Given the description of an element on the screen output the (x, y) to click on. 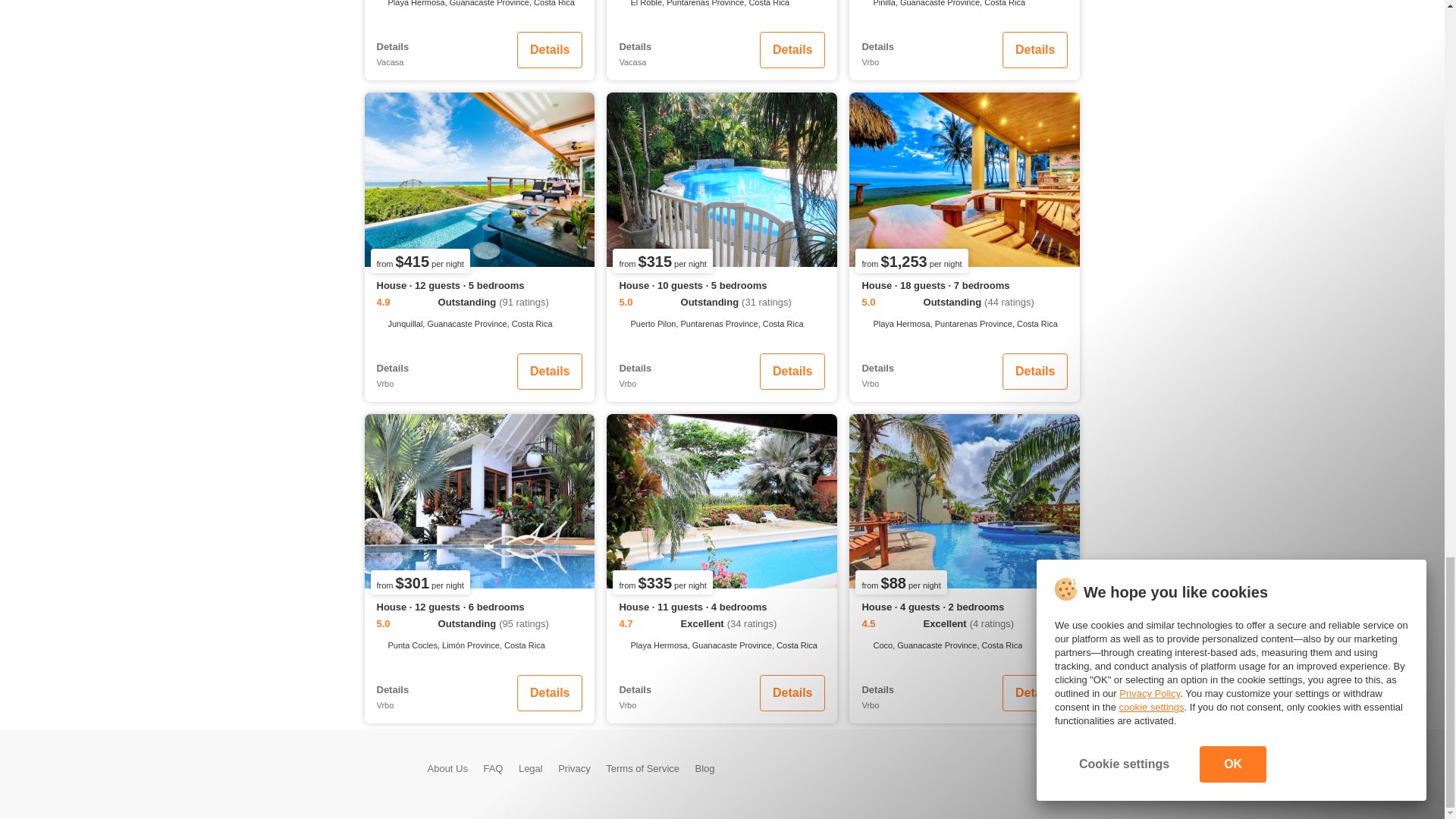
Blog (704, 767)
Privacy (574, 767)
Legal (530, 767)
FAQ (492, 767)
About Us (447, 767)
Terms of Service (642, 767)
